Given the description of an element on the screen output the (x, y) to click on. 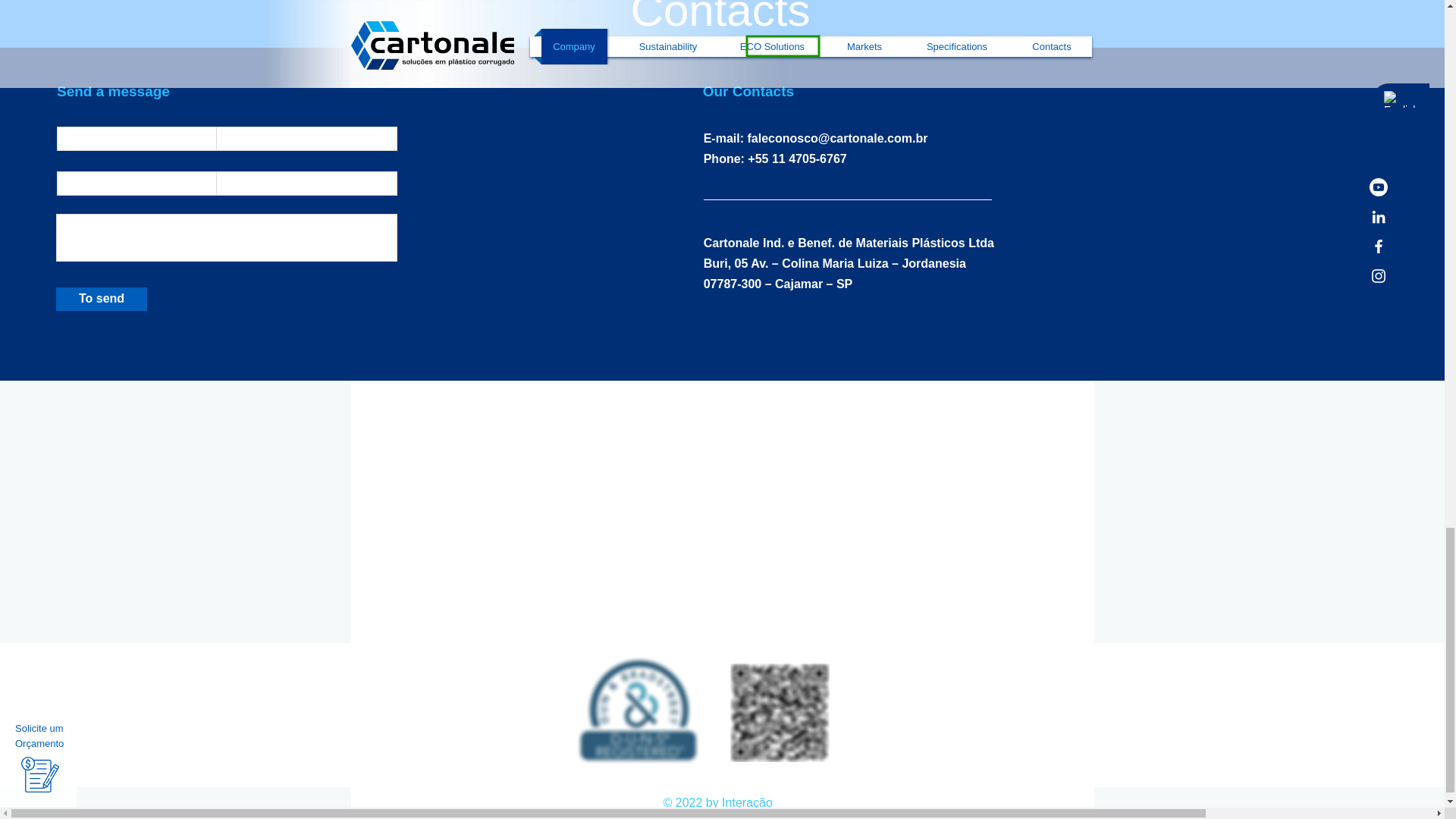
Produtos - novo.png (637, 709)
Produtos - novo.png (778, 711)
